Given the description of an element on the screen output the (x, y) to click on. 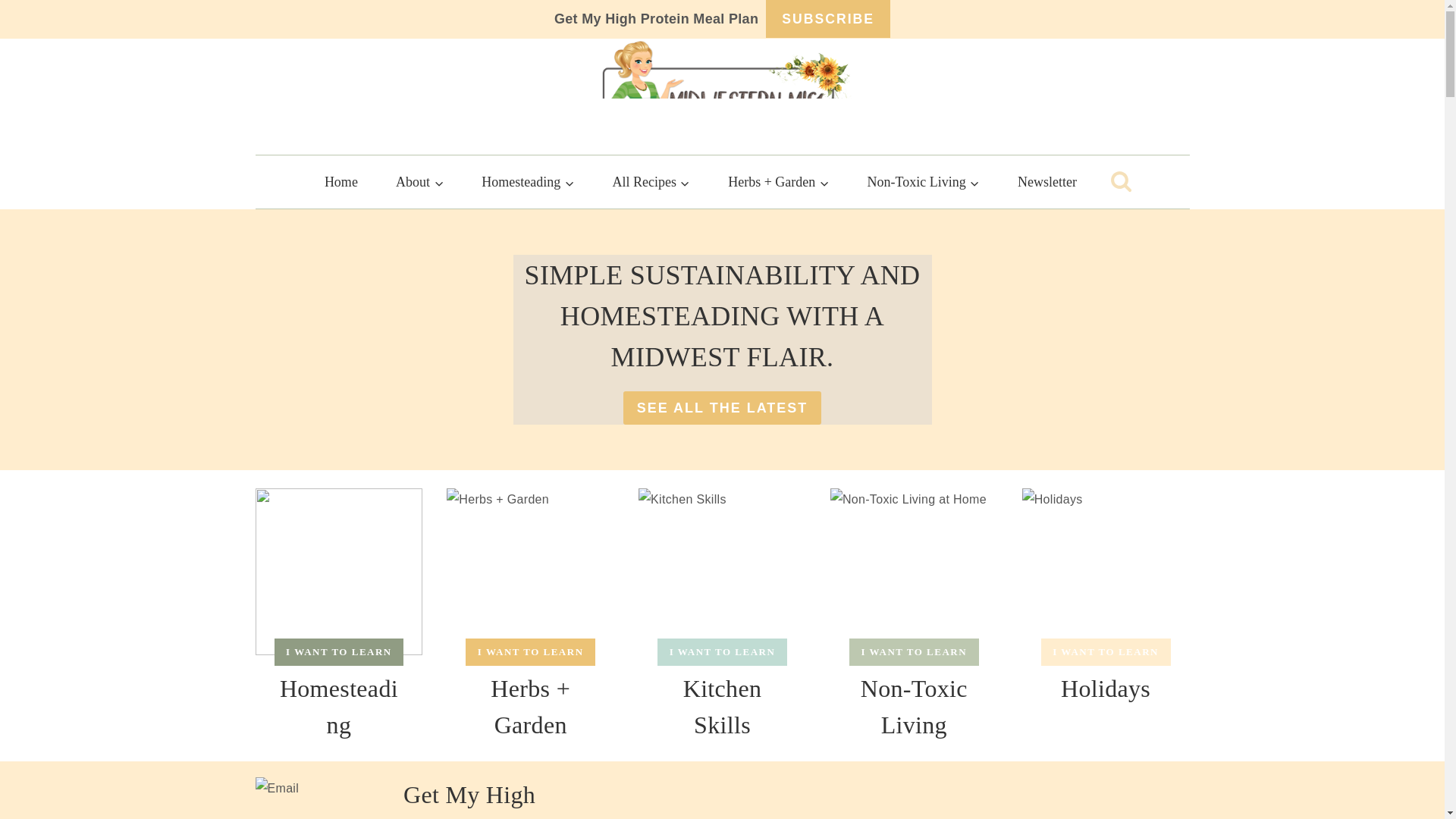
SUBSCRIBE (827, 18)
Home (341, 181)
About (420, 181)
Homesteading (527, 181)
All Recipes (650, 181)
